Given the description of an element on the screen output the (x, y) to click on. 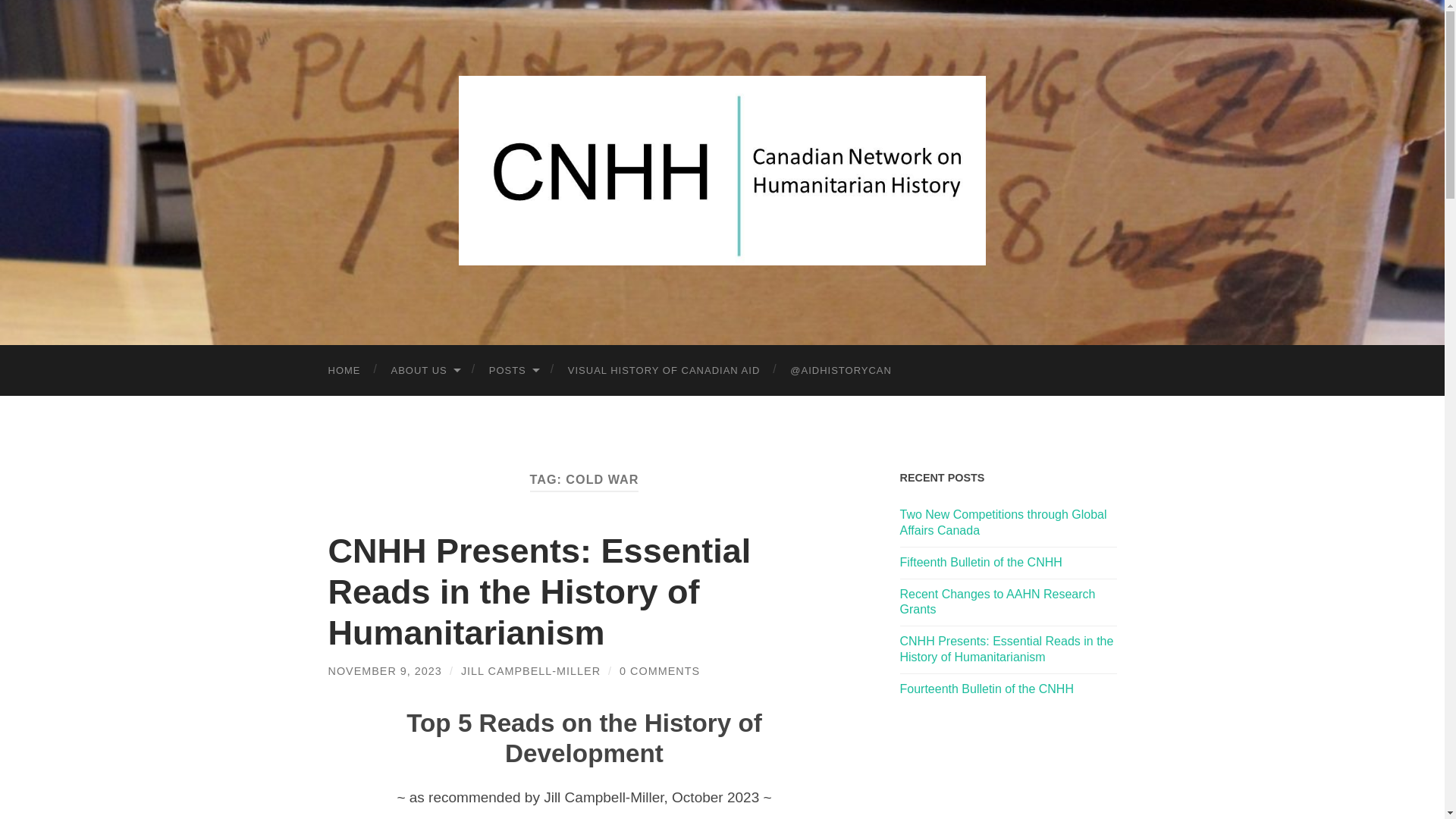
Fourteenth Bulletin of the CNHH (986, 688)
VISUAL HISTORY OF CANADIAN AID (663, 369)
Recent Changes to AAHN Research Grants (996, 602)
HOME (344, 369)
Canadian Network on Humanitarian History (721, 170)
ABOUT US (424, 369)
Fifteenth Bulletin of the CNHH (980, 562)
POSTS (513, 369)
Posts by Jill Campbell-Miller (530, 671)
JILL CAMPBELL-MILLER (530, 671)
Two New Competitions through Global Affairs Canada (1002, 522)
NOVEMBER 9, 2023 (384, 671)
0 COMMENTS (660, 671)
